Given the description of an element on the screen output the (x, y) to click on. 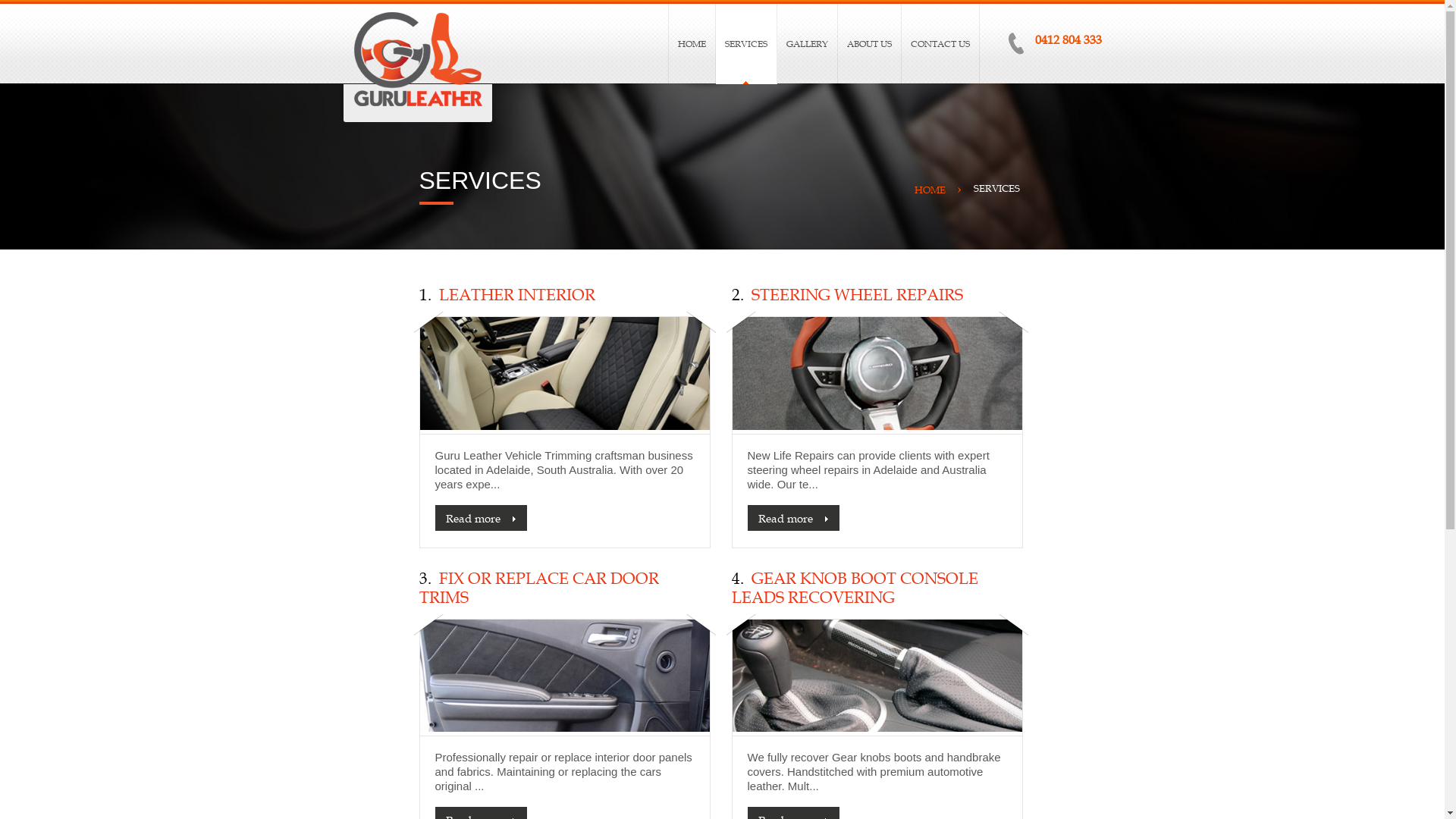
CONTACT US Element type: text (939, 43)
Read more Element type: text (481, 517)
Read more Element type: text (793, 517)
GALLERY Element type: text (806, 43)
SERVICES Element type: text (745, 43)
ABOUT US Element type: text (868, 43)
HOME Element type: text (691, 43)
